Given the description of an element on the screen output the (x, y) to click on. 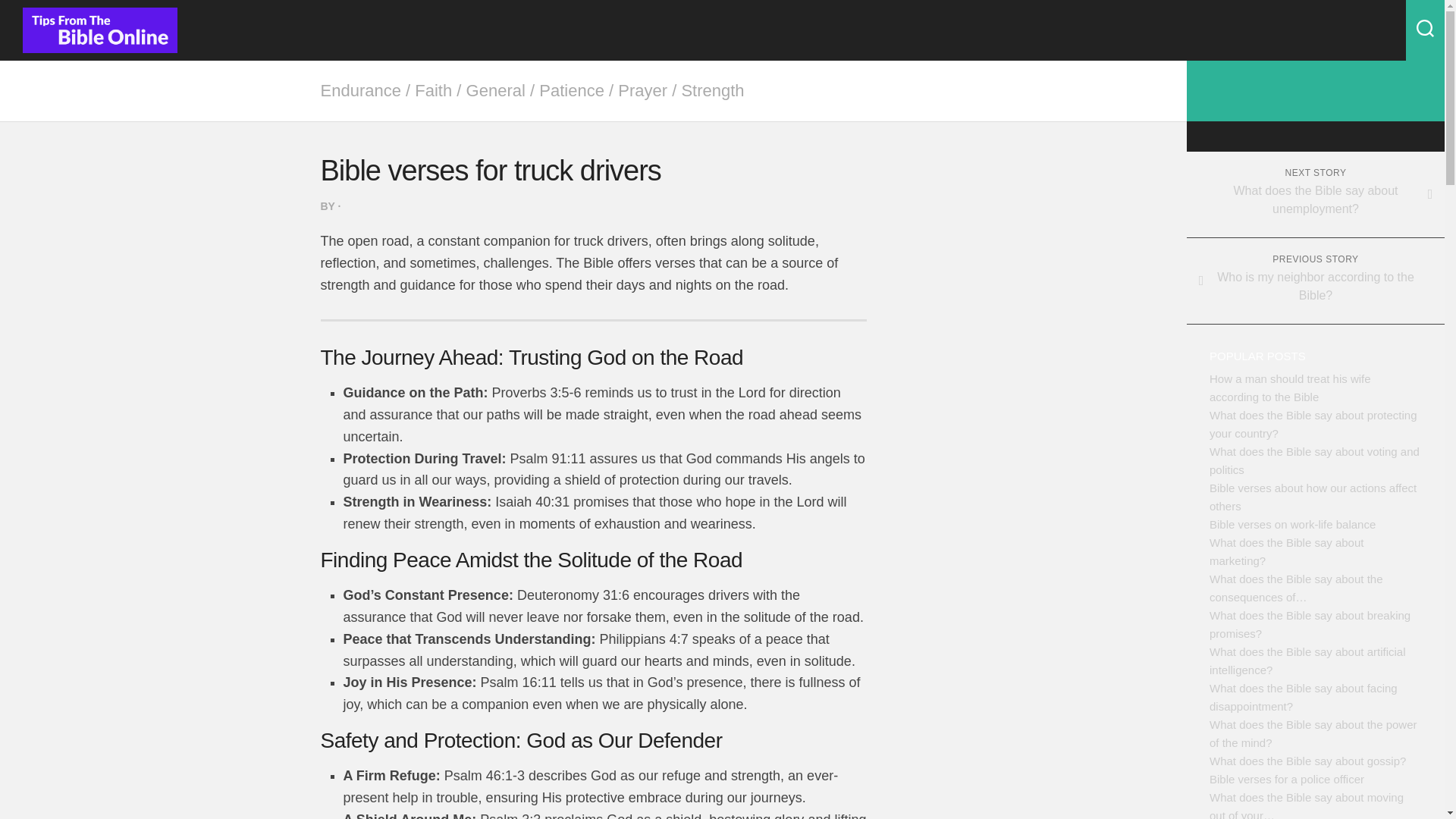
How a man should treat his wife according to the Bible (1290, 387)
Endurance (360, 90)
Strength (712, 90)
Patience (571, 90)
General (495, 90)
Prayer (641, 90)
Faith (432, 90)
